Given the description of an element on the screen output the (x, y) to click on. 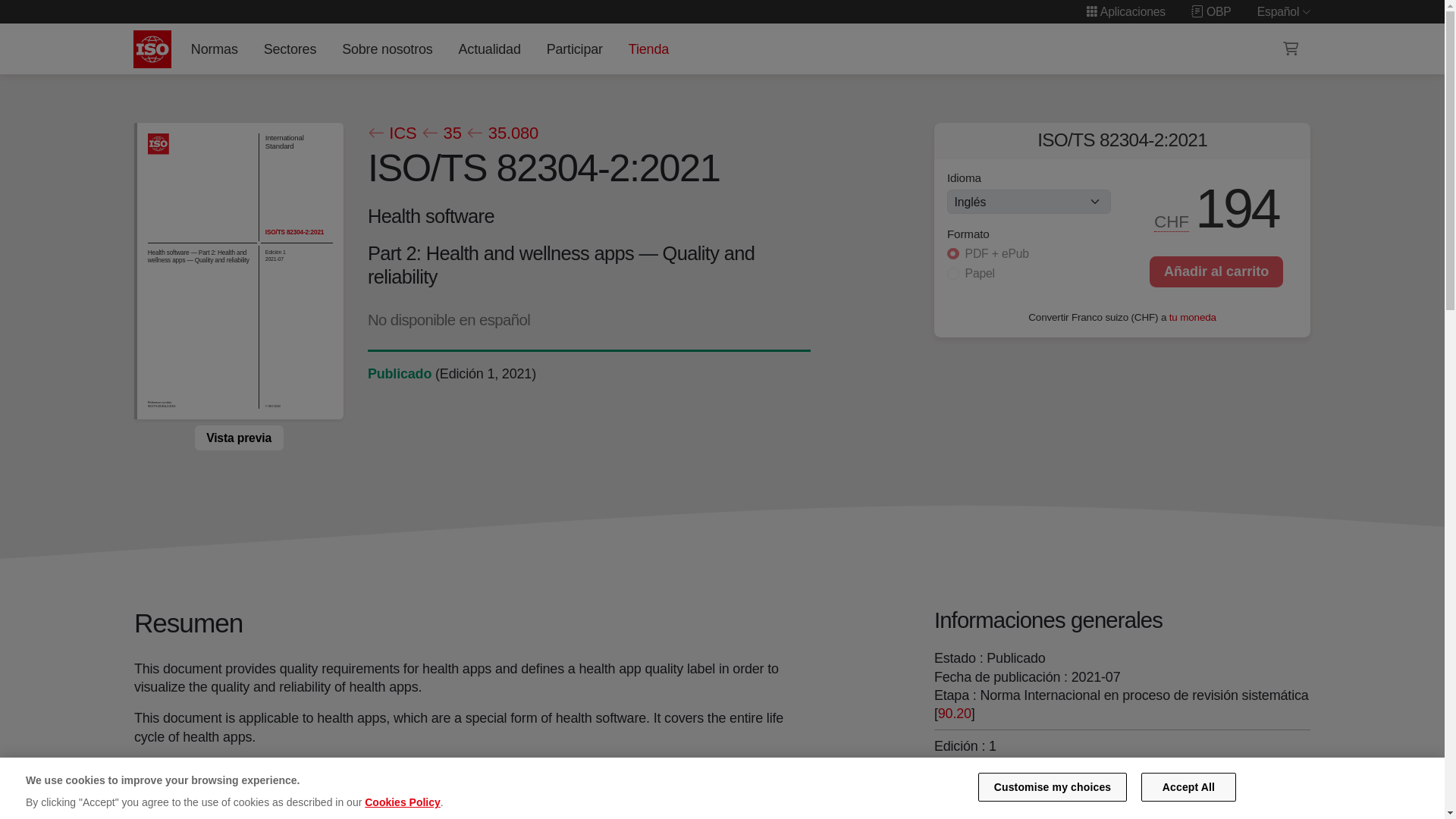
Publicado (398, 372)
Sobre nosotros (387, 48)
Francos suizos (1171, 221)
90.20 (954, 713)
35 (441, 133)
35.240.80 (1045, 812)
Carro de la compra (1290, 49)
Actualidad (489, 48)
 OBP (1211, 11)
IT applications in health care technology (1045, 812)
ICS (391, 133)
Sectores (290, 48)
Tienda (648, 48)
Participar (574, 48)
